Given the description of an element on the screen output the (x, y) to click on. 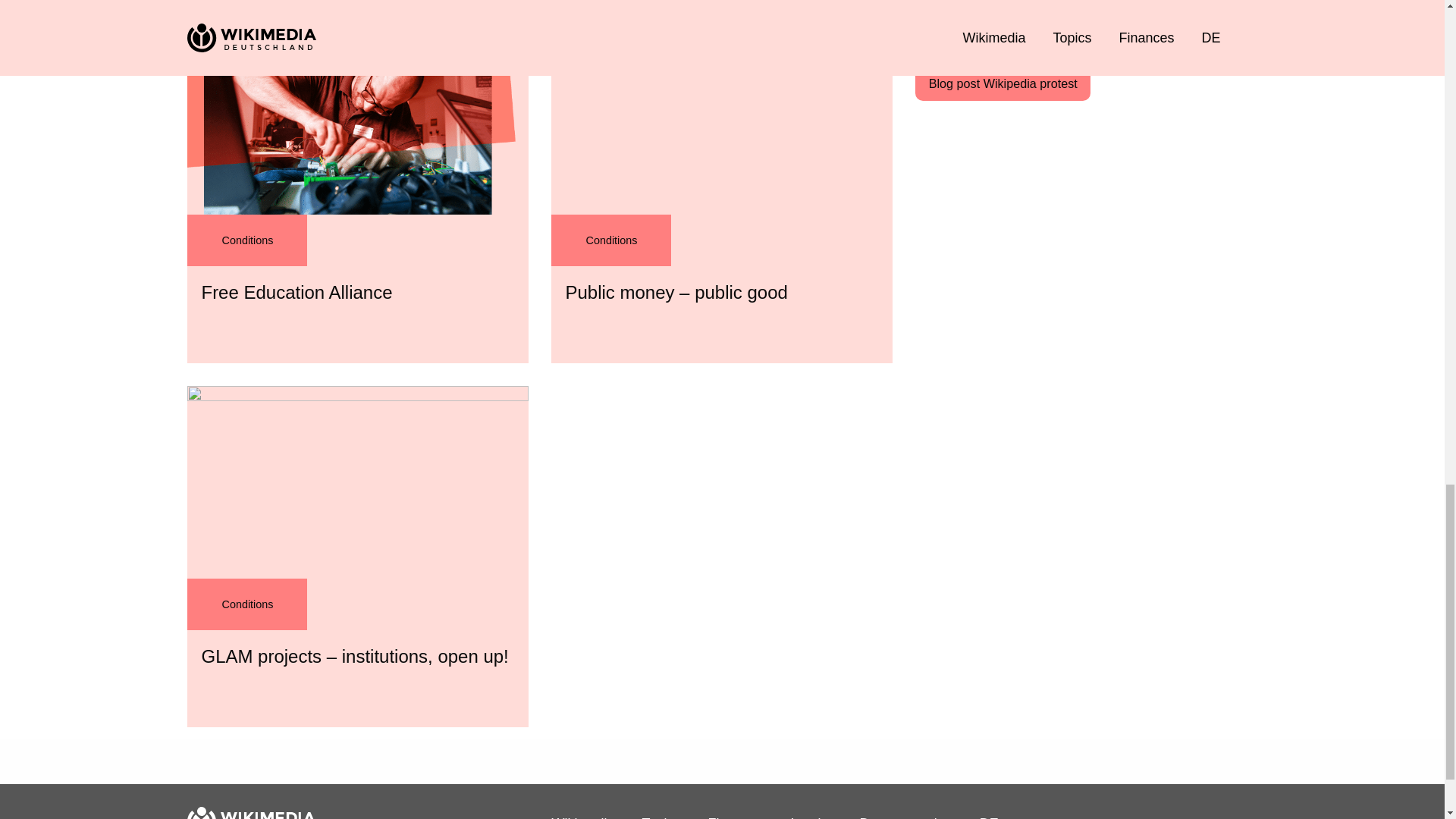
Blog post 24 hours without Wikipedia (1028, 34)
Blog post Wikipedia protest (1002, 83)
